Given the description of an element on the screen output the (x, y) to click on. 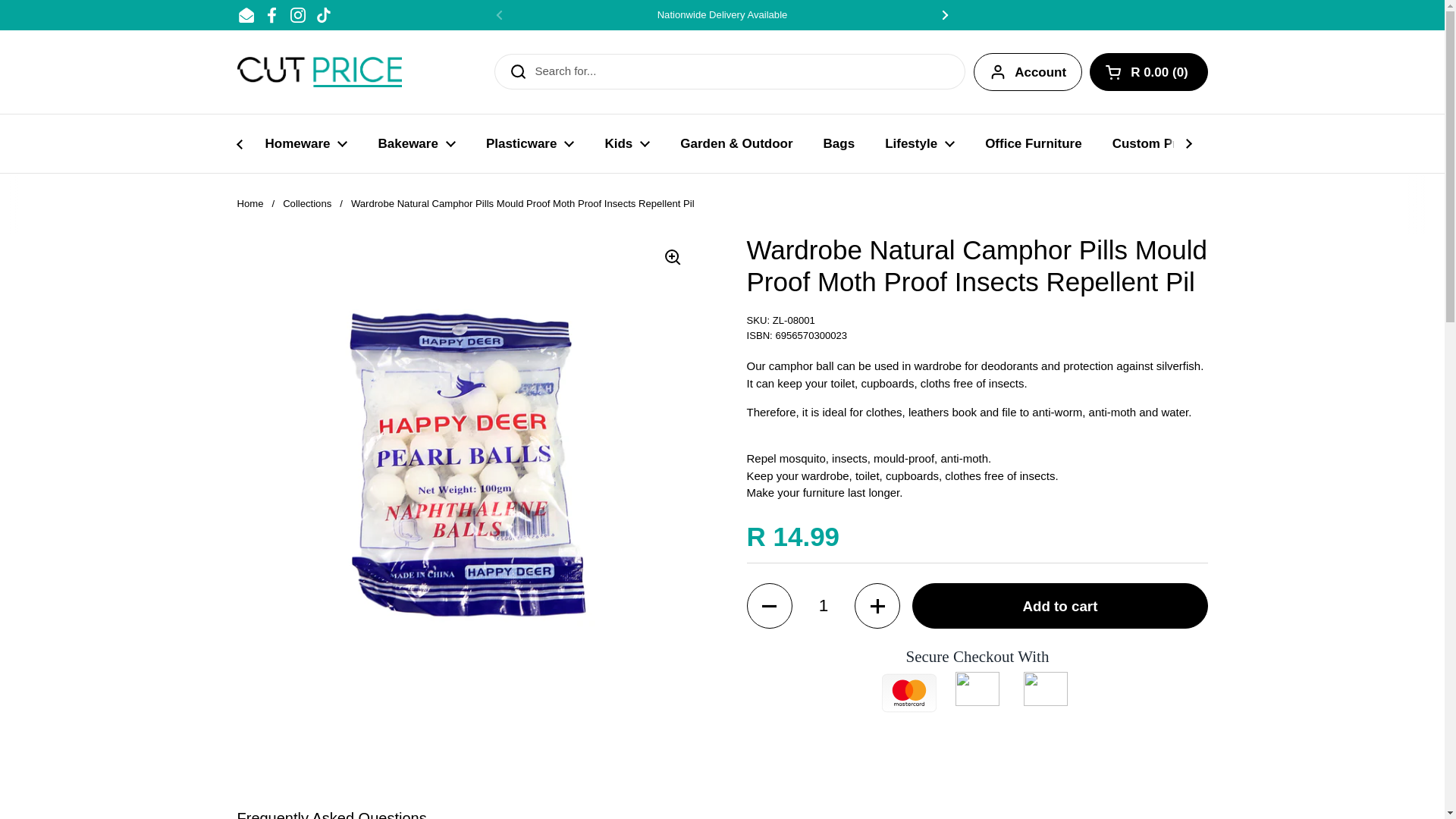
Plasticware (529, 143)
Instagram (296, 14)
Cut Price South Africa (318, 71)
Account (1027, 71)
Bakeware (416, 143)
TikTok (322, 14)
Bakeware (416, 143)
Email (244, 14)
